Given the description of an element on the screen output the (x, y) to click on. 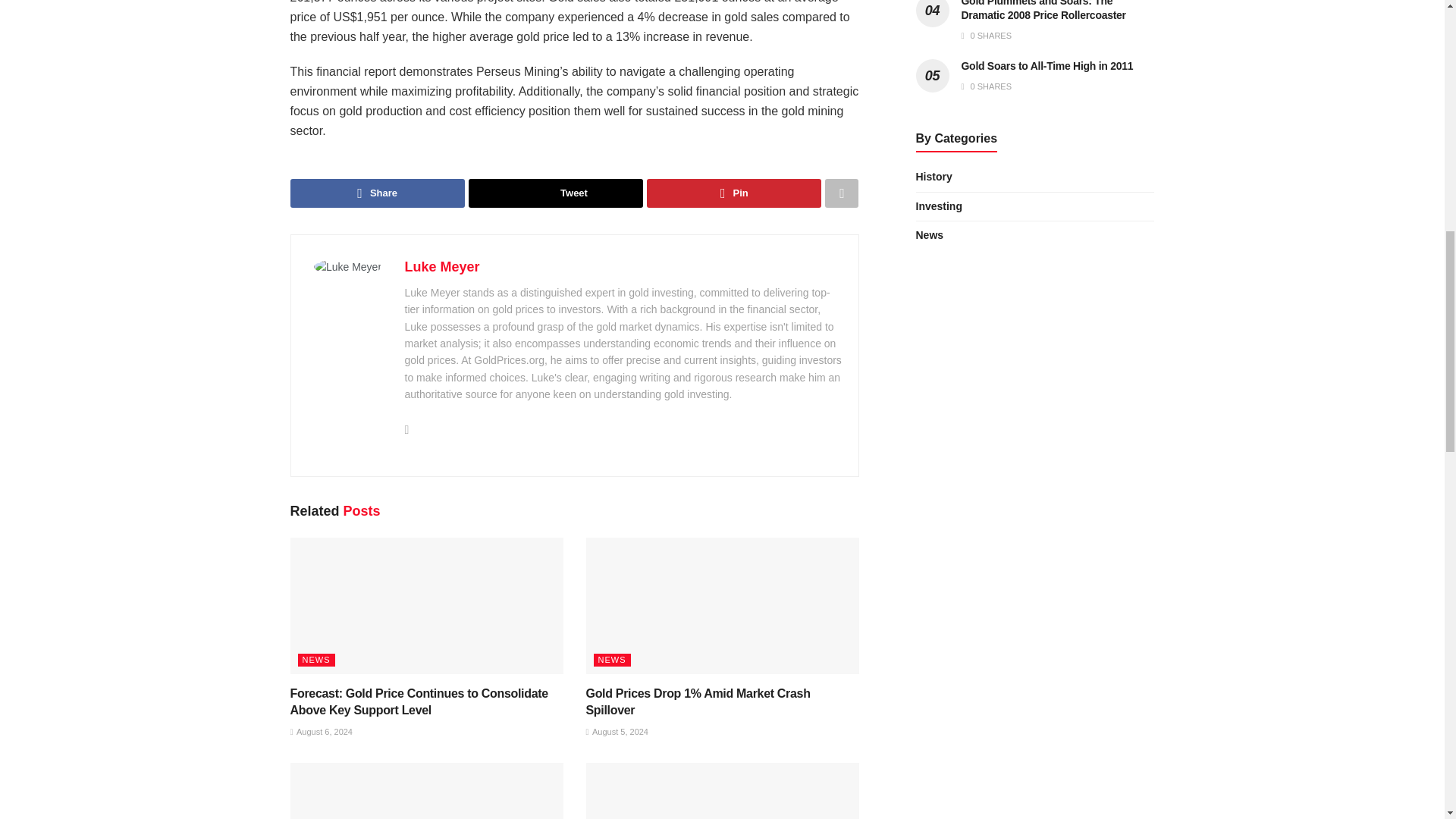
Tweet (555, 193)
NEWS (611, 659)
August 6, 2024 (320, 731)
NEWS (315, 659)
Luke Meyer (442, 266)
Share (376, 193)
Pin (733, 193)
